Given the description of an element on the screen output the (x, y) to click on. 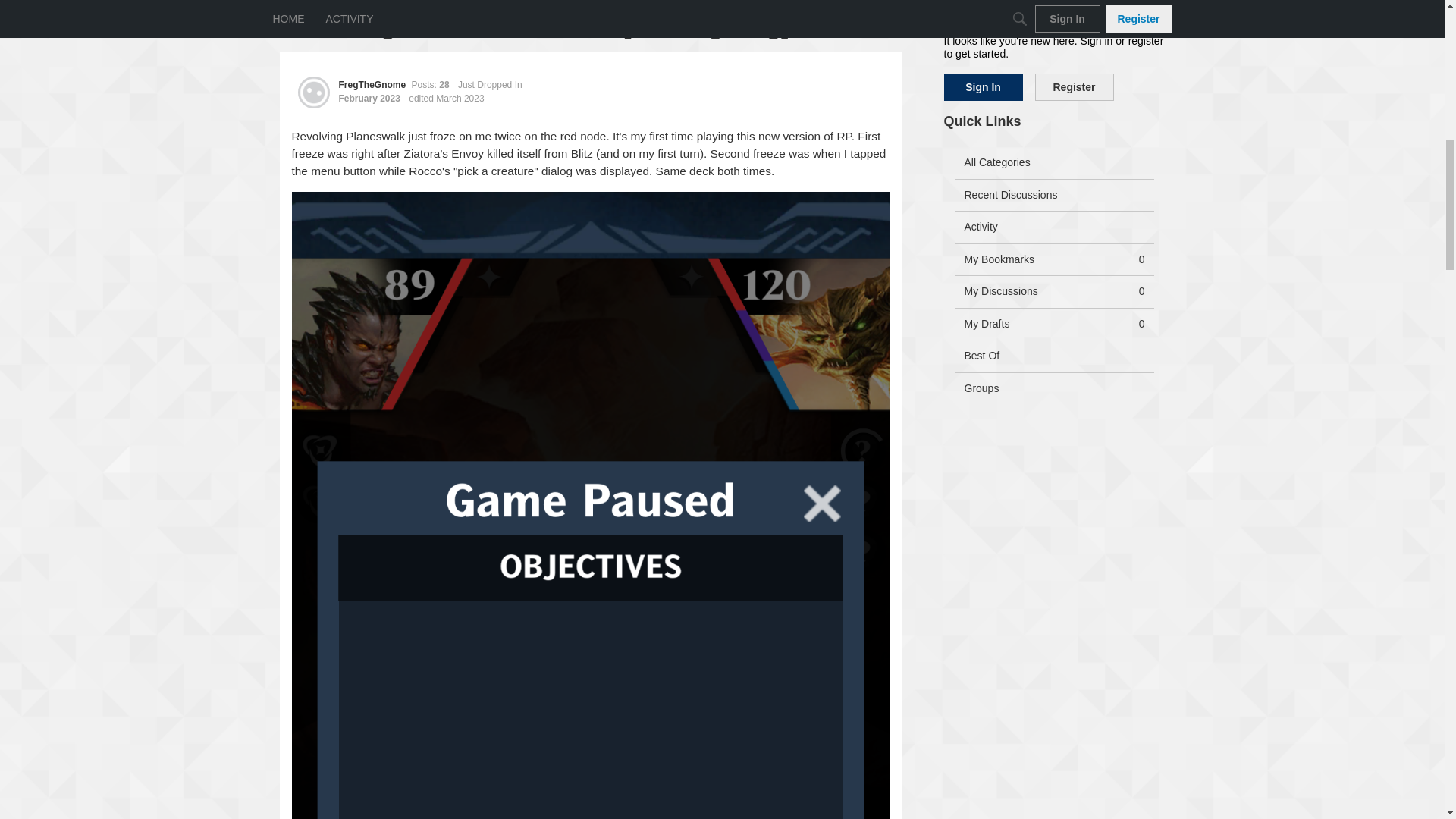
Sign In (982, 85)
6 February 2023, 05:52 (367, 98)
All Categories (1054, 163)
Recent Discussions (1054, 194)
Just Dropped In (1054, 260)
FregTheGnome (490, 84)
February 2023 (313, 92)
Edited 2 March 2023, 13:45 by Magic:PQ Support Team. (367, 98)
FregTheGnome (446, 98)
